Given the description of an element on the screen output the (x, y) to click on. 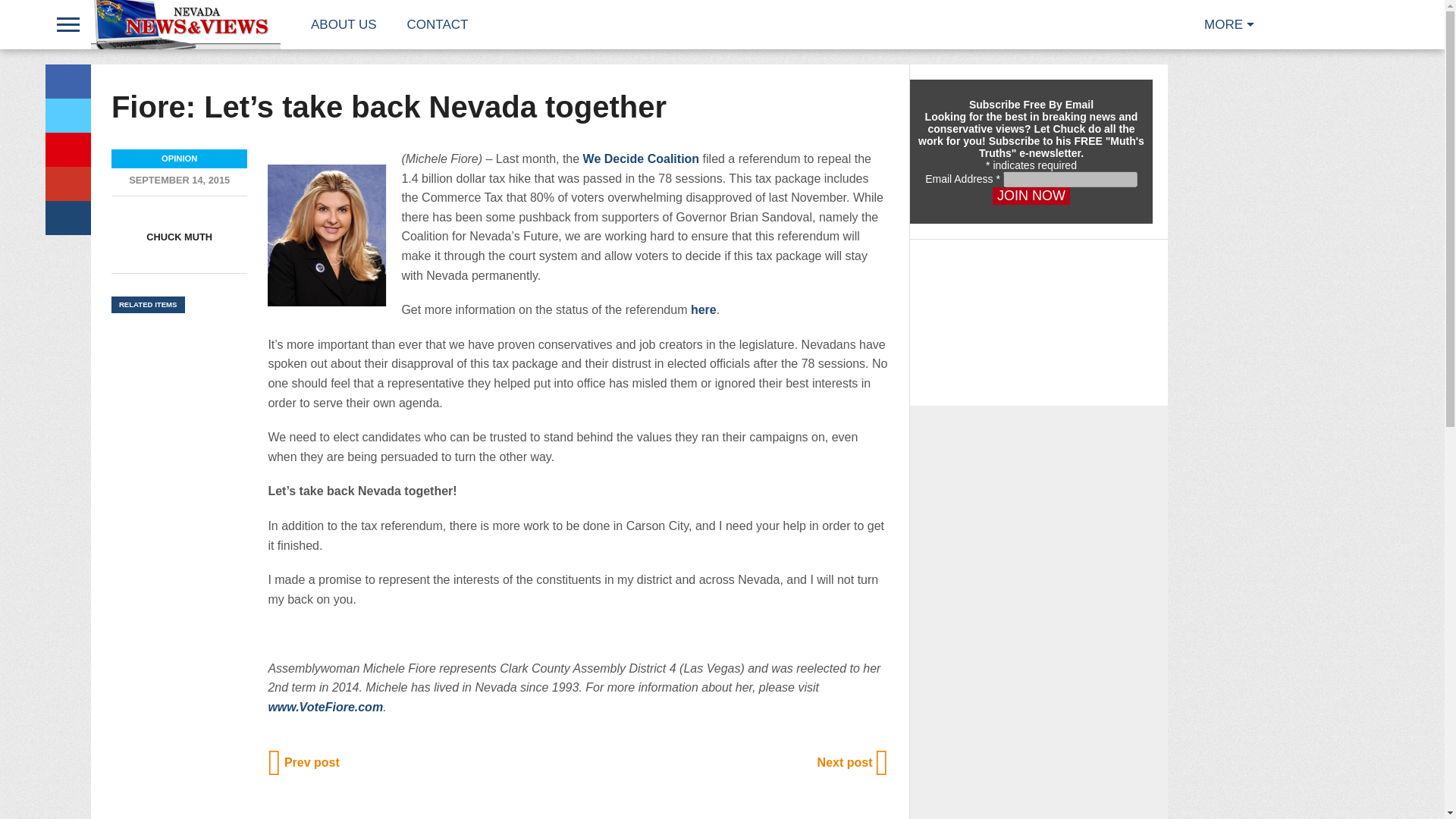
Join Now (1031, 195)
Tweet This Post (67, 115)
Pin This Post (67, 149)
Share on Facebook (67, 81)
Posts by Chuck Muth (179, 236)
